Given the description of an element on the screen output the (x, y) to click on. 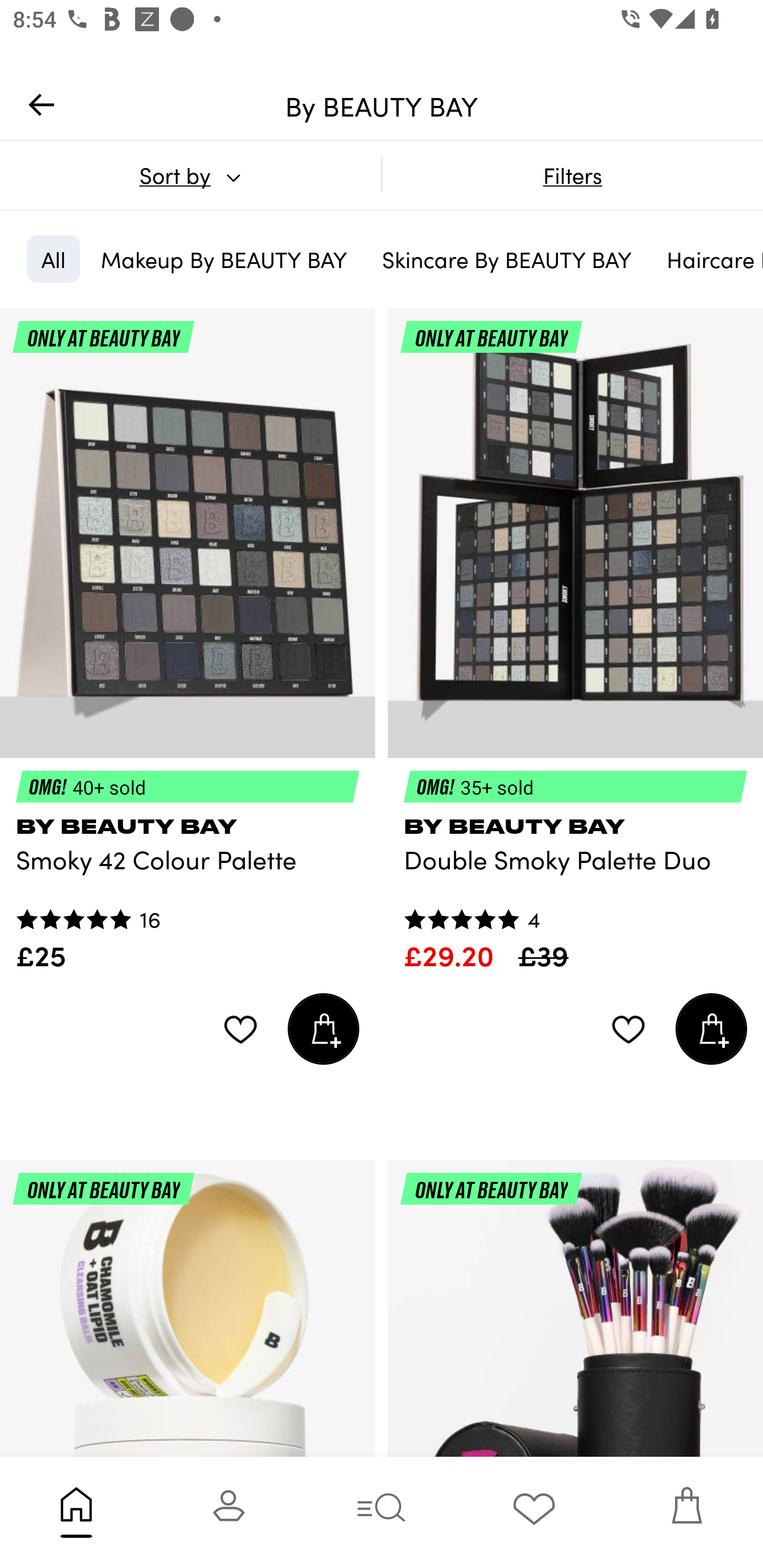
Sort by (190, 174)
Filters (572, 174)
All (53, 258)
Makeup By BEAUTY BAY (223, 258)
Skincare By BEAUTY BAY (506, 258)
Haircare By BEAUTY BAY (707, 258)
